Given the description of an element on the screen output the (x, y) to click on. 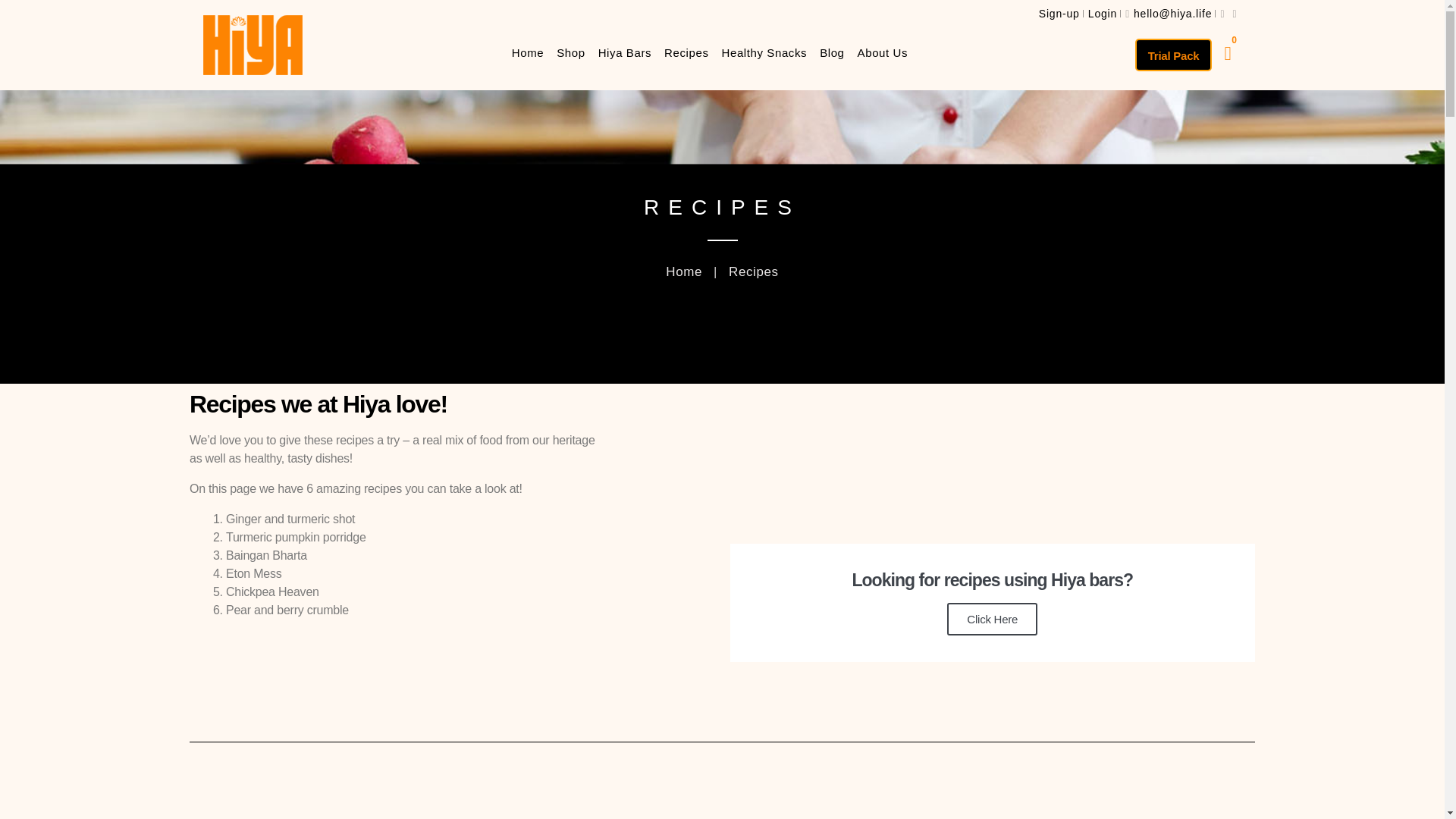
Shop (570, 51)
Sign-up (1059, 13)
Healthy Snacks (765, 51)
Recipes (685, 51)
Go to Hiya. (683, 271)
Hiya Bars (624, 51)
About Us (882, 51)
Home (527, 51)
Login (1101, 13)
Blog (831, 51)
